Given the description of an element on the screen output the (x, y) to click on. 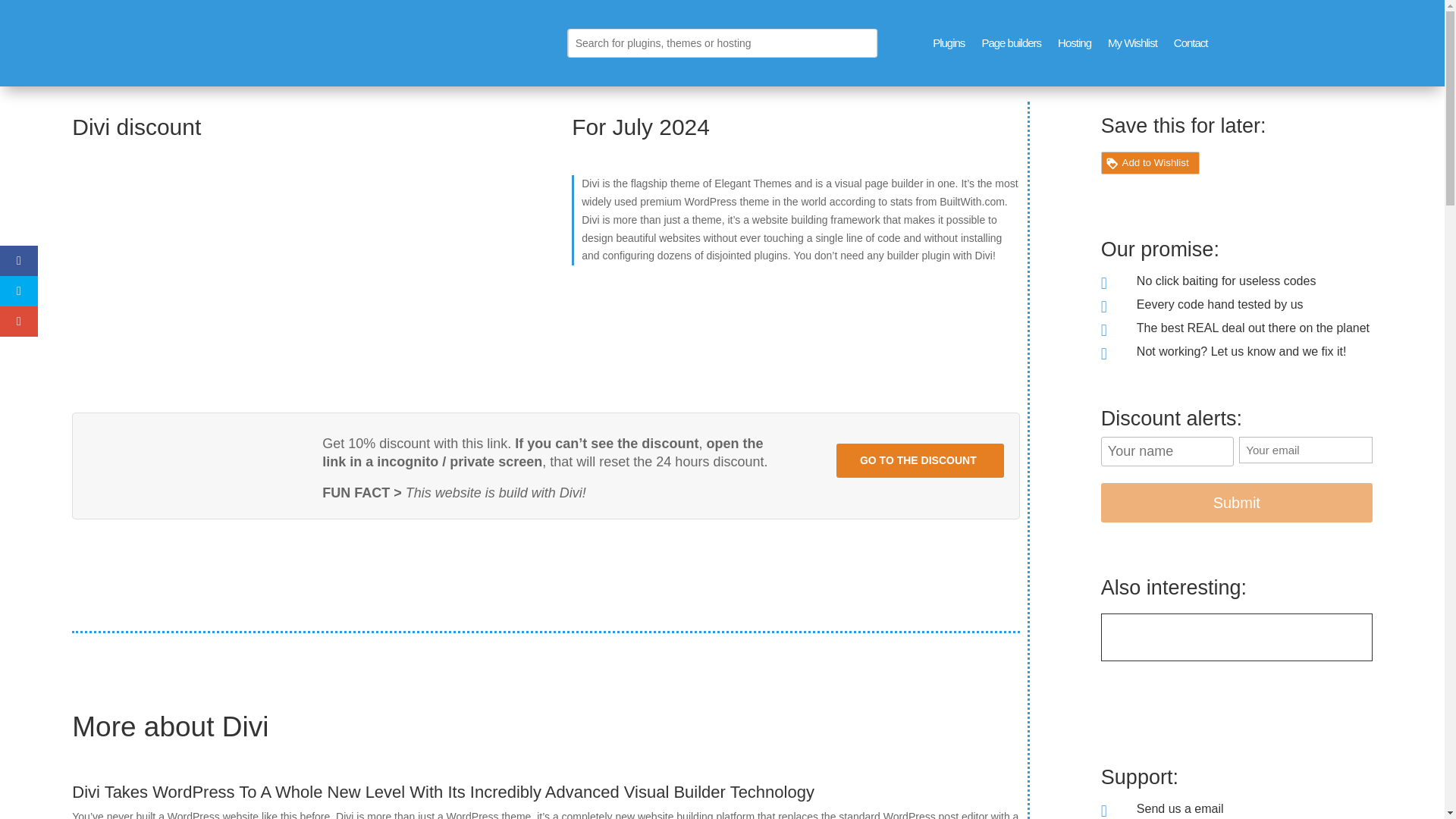
Add to Wishlist (1149, 162)
GO TO THE DISCOUNT (919, 460)
Hosting (1074, 43)
My Wishlist (1132, 43)
Go to the discount (919, 460)
Plugins (948, 43)
Submit (1236, 502)
Submit (1236, 502)
Search (24, 13)
Page builders (1011, 43)
Contact (1190, 43)
